Given the description of an element on the screen output the (x, y) to click on. 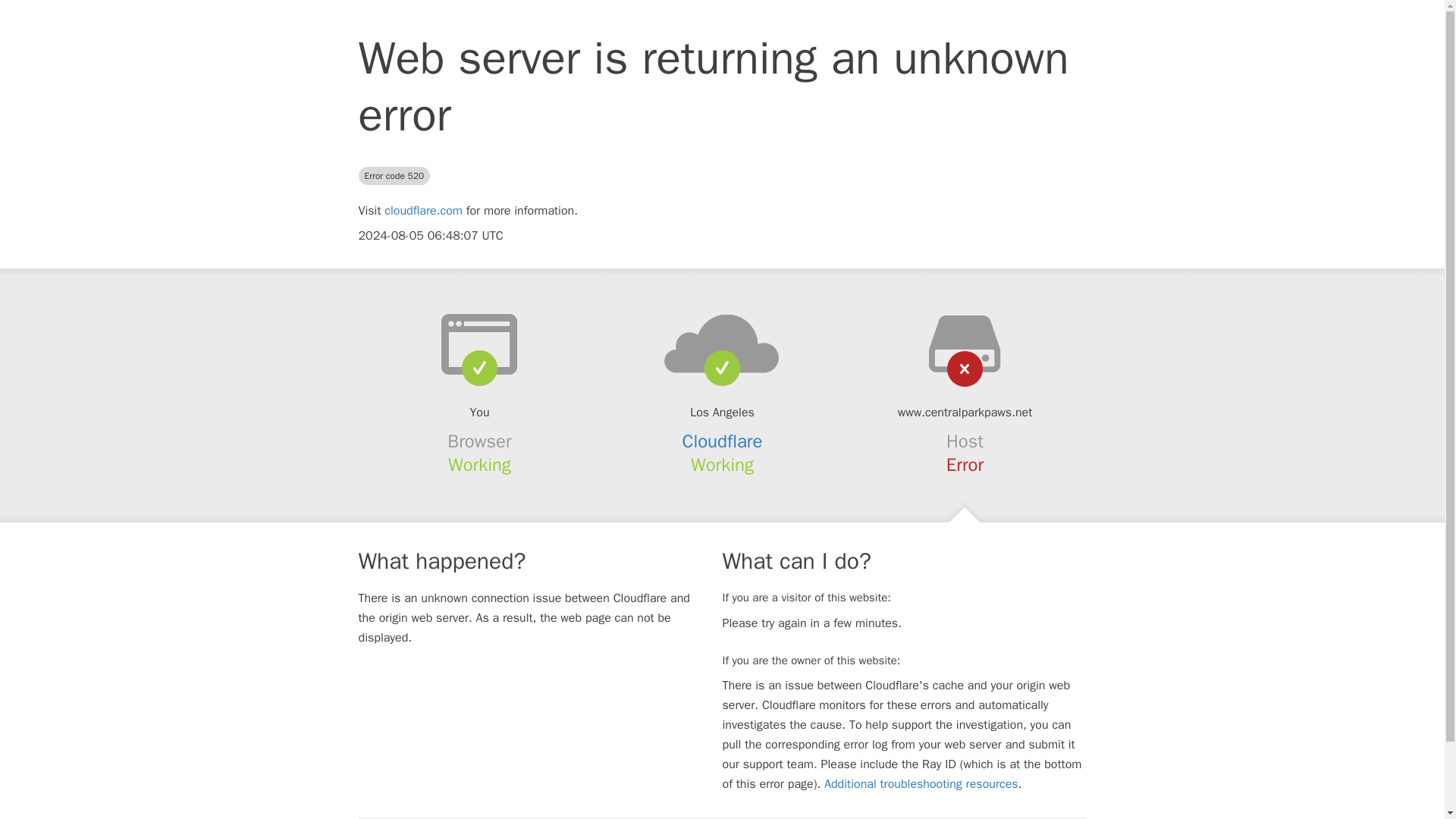
Cloudflare (722, 440)
cloudflare.com (423, 210)
Additional troubleshooting resources (920, 783)
